Given the description of an element on the screen output the (x, y) to click on. 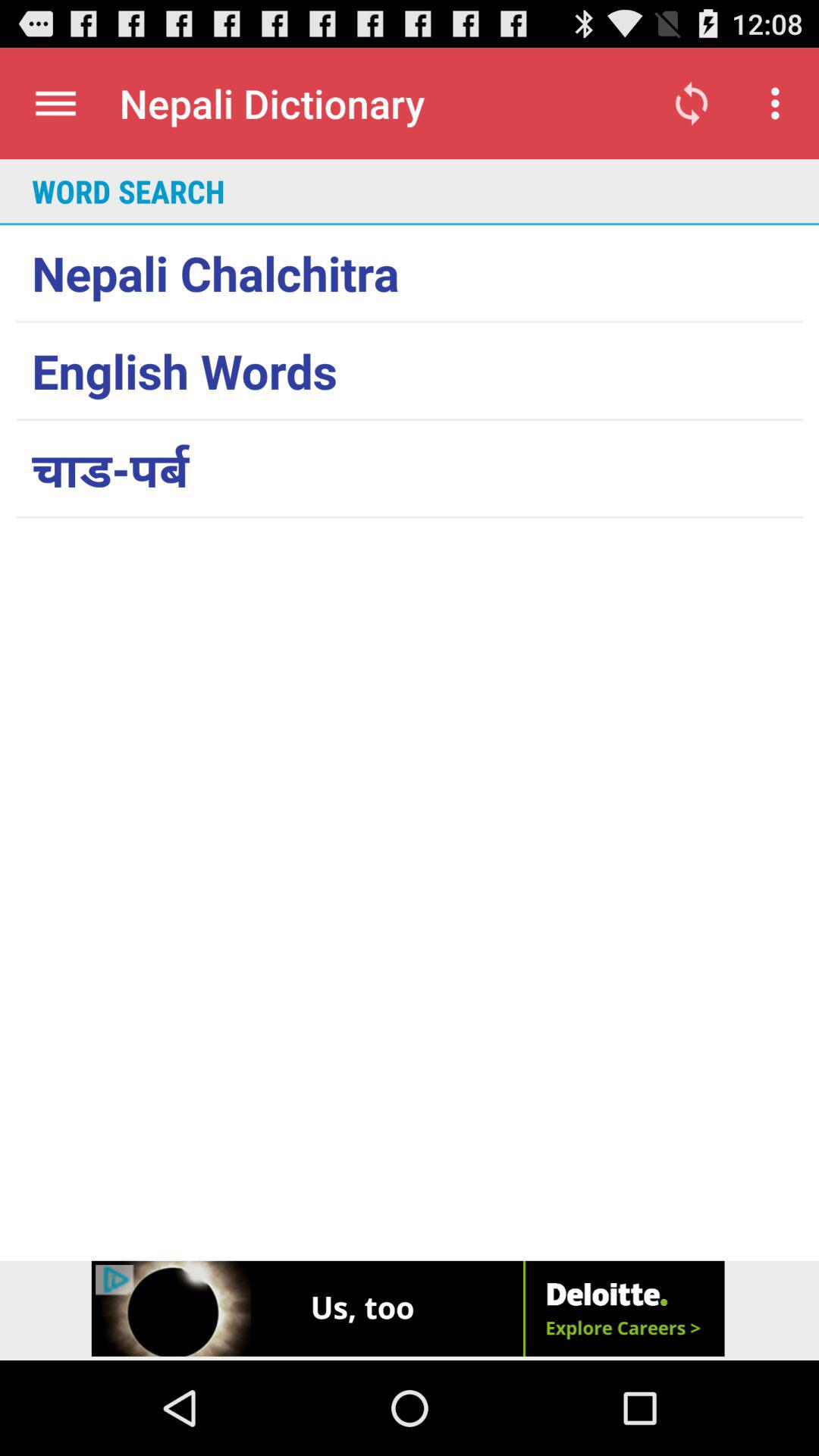
click on advertisement (409, 1310)
